Given the description of an element on the screen output the (x, y) to click on. 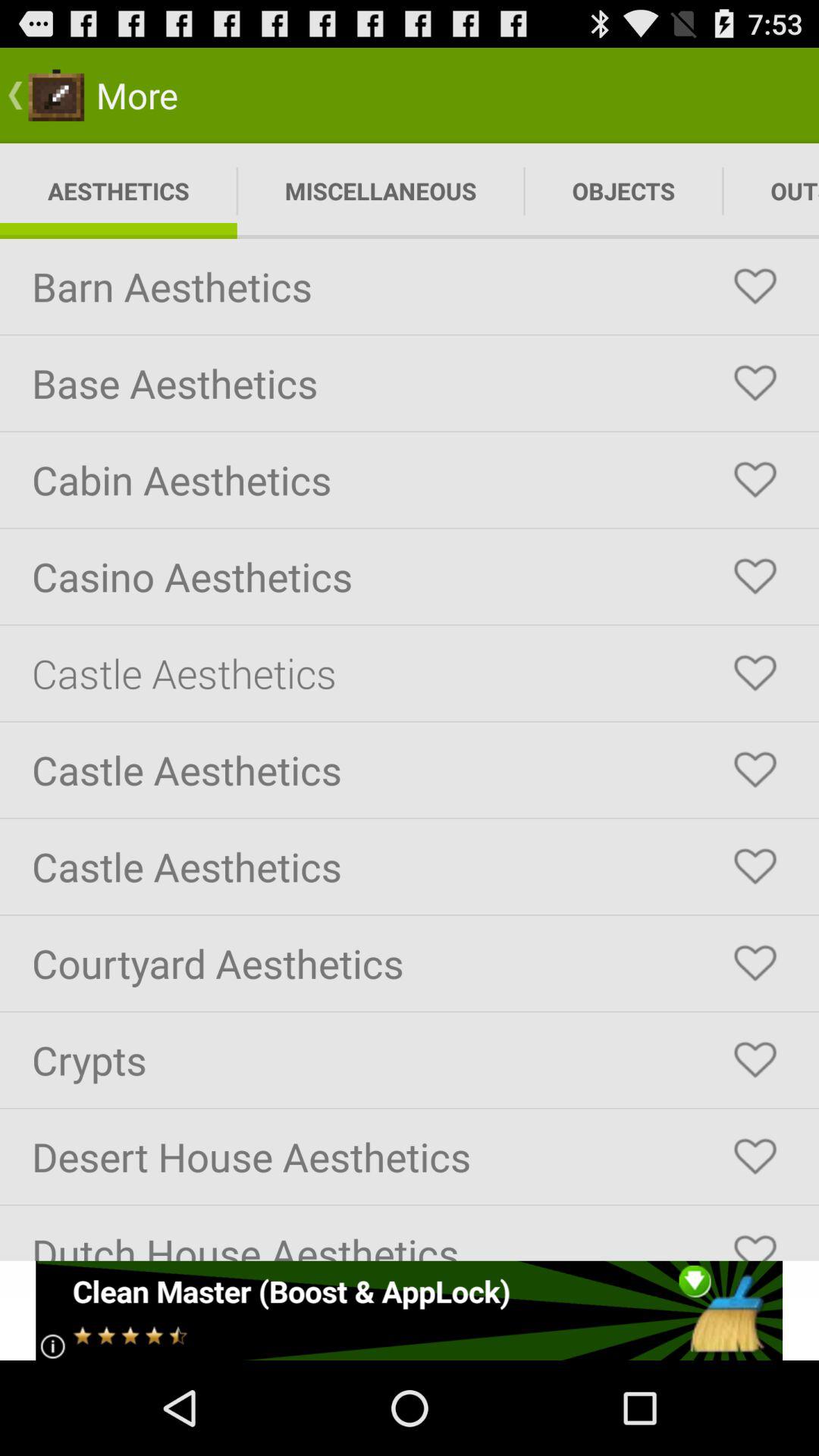
selct the button (755, 576)
